Given the description of an element on the screen output the (x, y) to click on. 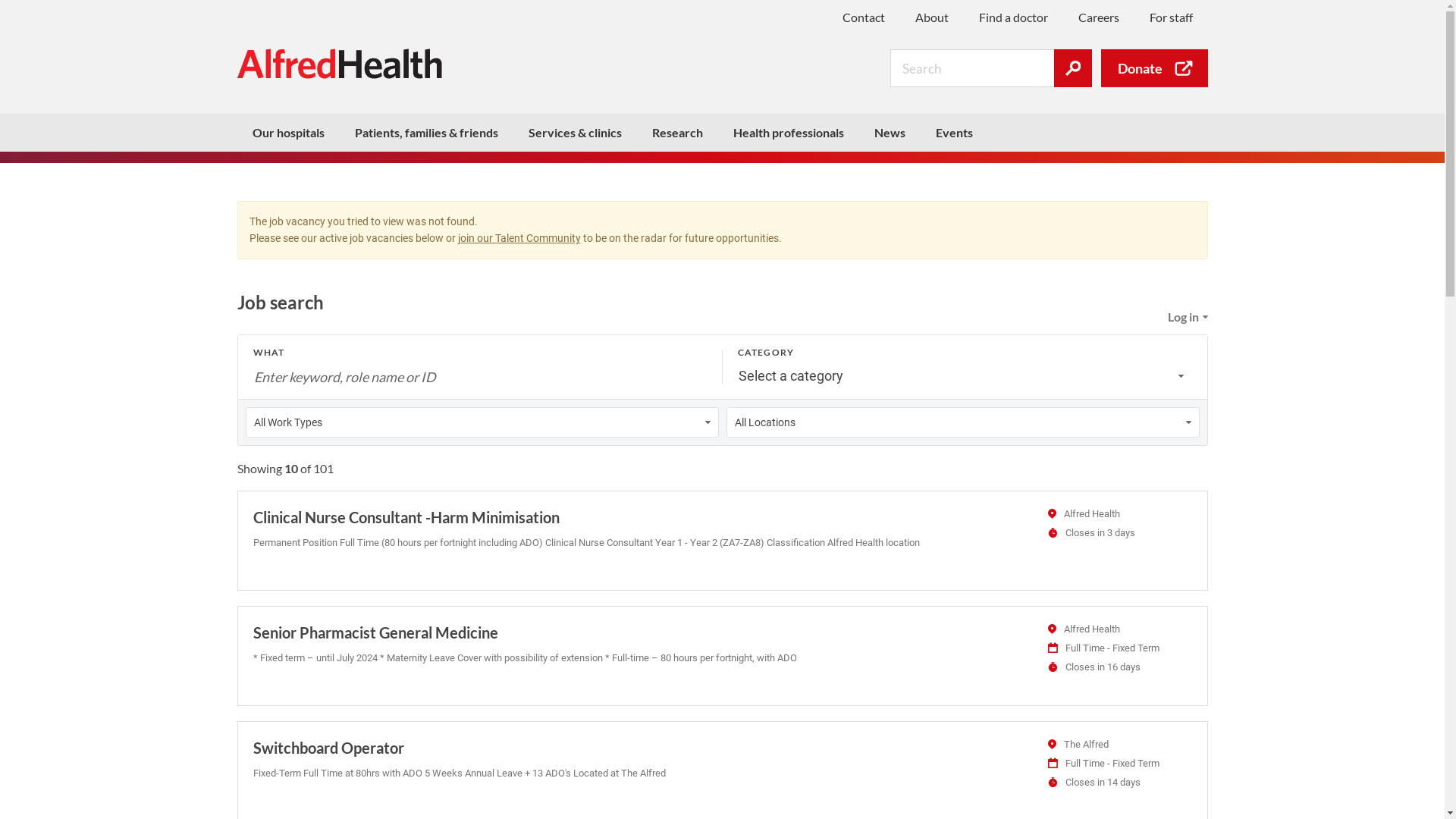
join our Talent Community Element type: text (519, 238)
For staff Element type: text (1171, 17)
Services & clinics Element type: text (574, 132)
Find a doctor Element type: text (1012, 17)
Events Element type: text (954, 132)
Alfred Health Element type: text (338, 63)
Patients, families & friends Element type: text (426, 132)
Research Element type: text (677, 132)
Careers Element type: text (1098, 17)
About Element type: text (931, 17)
News Element type: text (888, 132)
Our hospitals Element type: text (287, 132)
Donate Element type: text (1154, 68)
Contact Element type: text (862, 17)
Health professionals Element type: text (787, 132)
Submit search Element type: text (1073, 68)
